Given the description of an element on the screen output the (x, y) to click on. 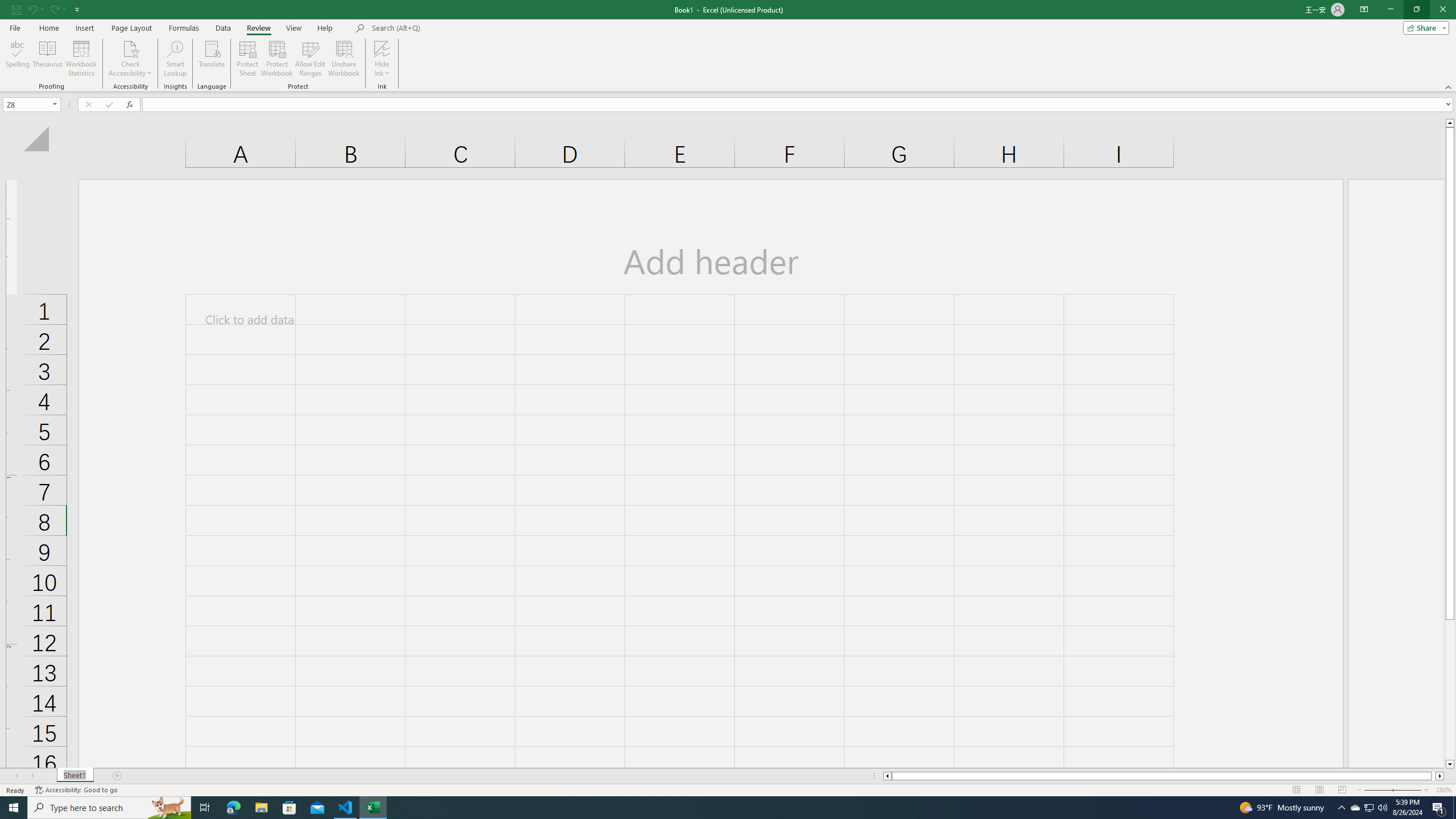
Spelling... (17, 58)
